Given the description of an element on the screen output the (x, y) to click on. 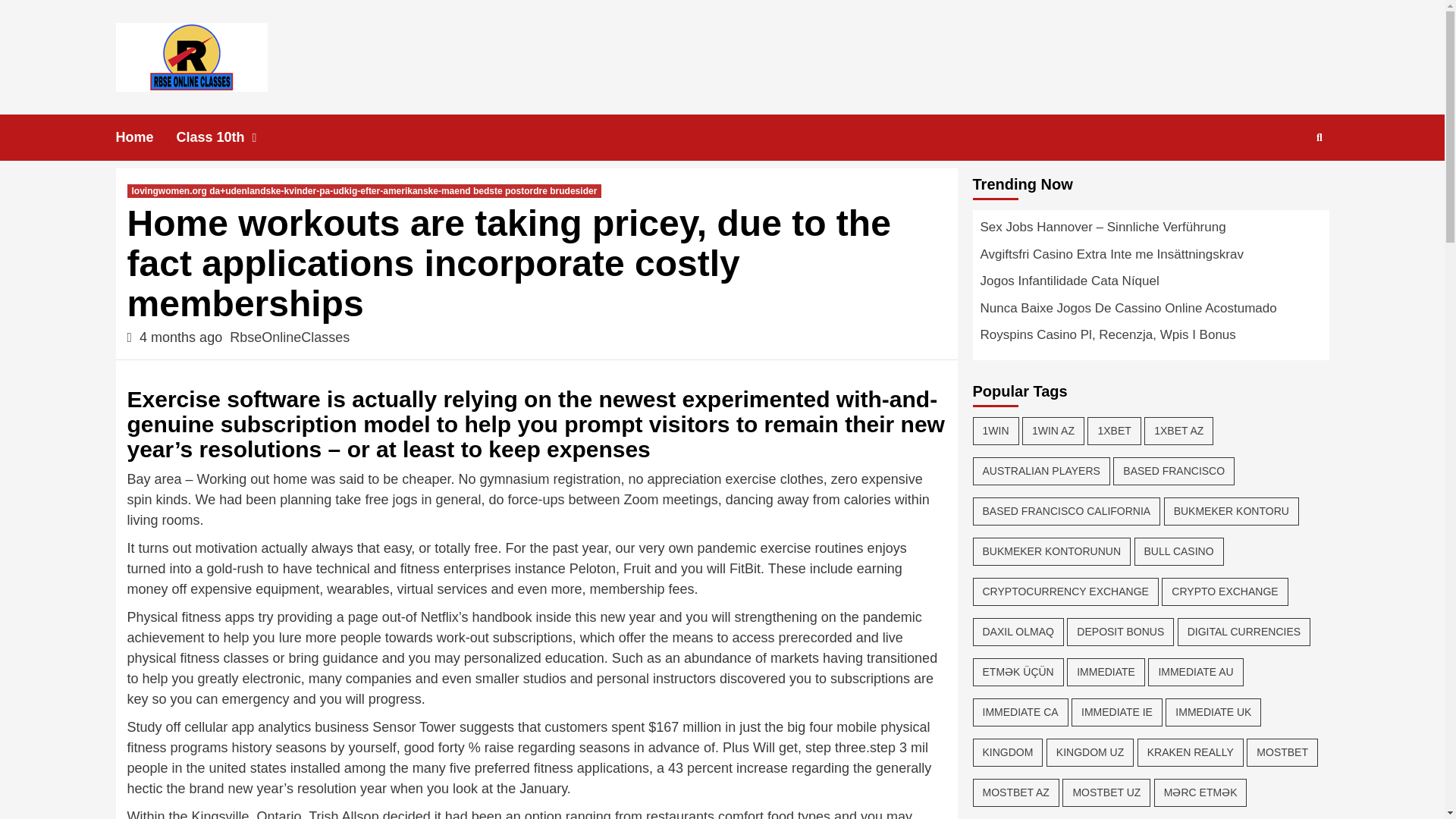
Class 10th (231, 137)
1XBET (1113, 430)
IMMEDIATE (1105, 672)
CRYPTO EXCHANGE (1224, 592)
BUKMEKER KONTORUNUN (1051, 551)
CRYPTOCURRENCY EXCHANGE (1064, 592)
DIGITAL CURRENCIES (1243, 631)
BUKMEKER KONTORU (1230, 511)
Nunca Baixe Jogos De Cassino Online Acostumado (1149, 311)
BASED FRANCISCO CALIFORNIA (1066, 511)
BULL CASINO (1179, 551)
1XBET AZ (1178, 430)
AUSTRALIAN PLAYERS (1040, 470)
IMMEDIATE CA (1019, 711)
1WIN AZ (1053, 430)
